Given the description of an element on the screen output the (x, y) to click on. 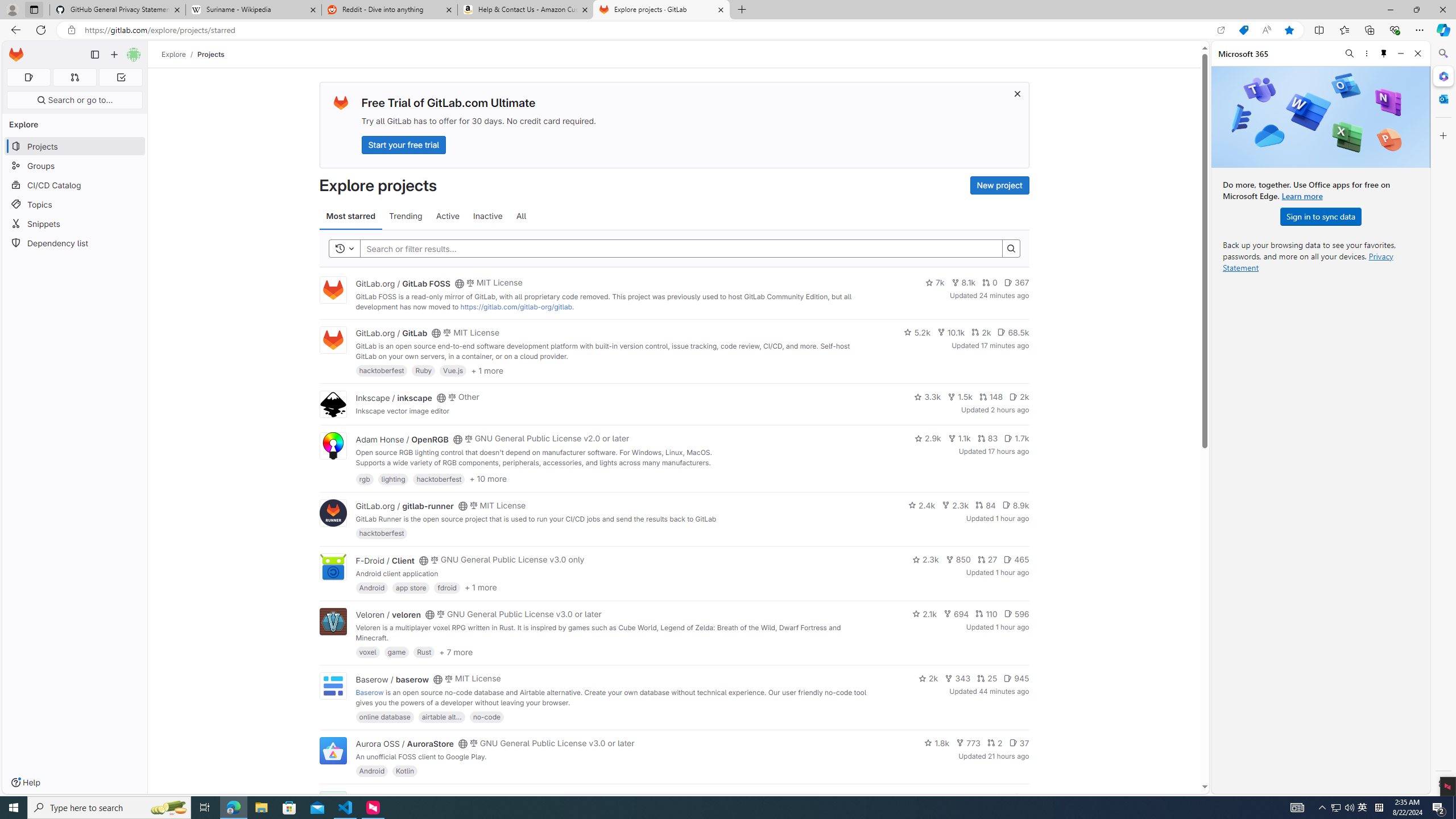
app store (411, 587)
https://gitlab.com/gitlab-org/gitlab (516, 306)
Ruby (423, 370)
1.5k (959, 396)
